Given the description of an element on the screen output the (x, y) to click on. 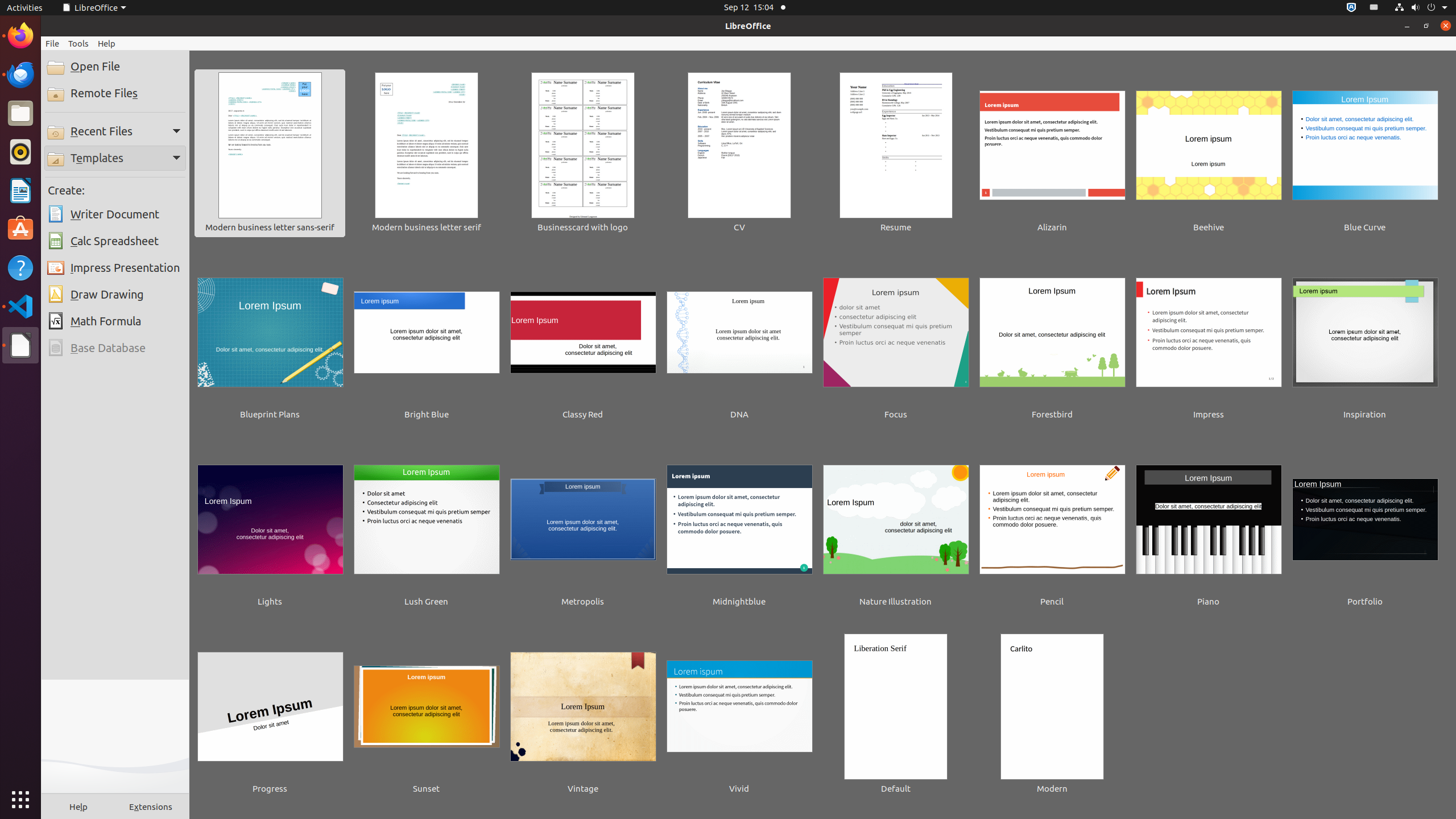
Impress Element type: list-item (1208, 340)
Modern business letter serif Element type: list-item (426, 153)
Businesscard with logo Element type: list-item (582, 153)
Resume Element type: list-item (895, 153)
CV Element type: list-item (739, 153)
